Given the description of an element on the screen output the (x, y) to click on. 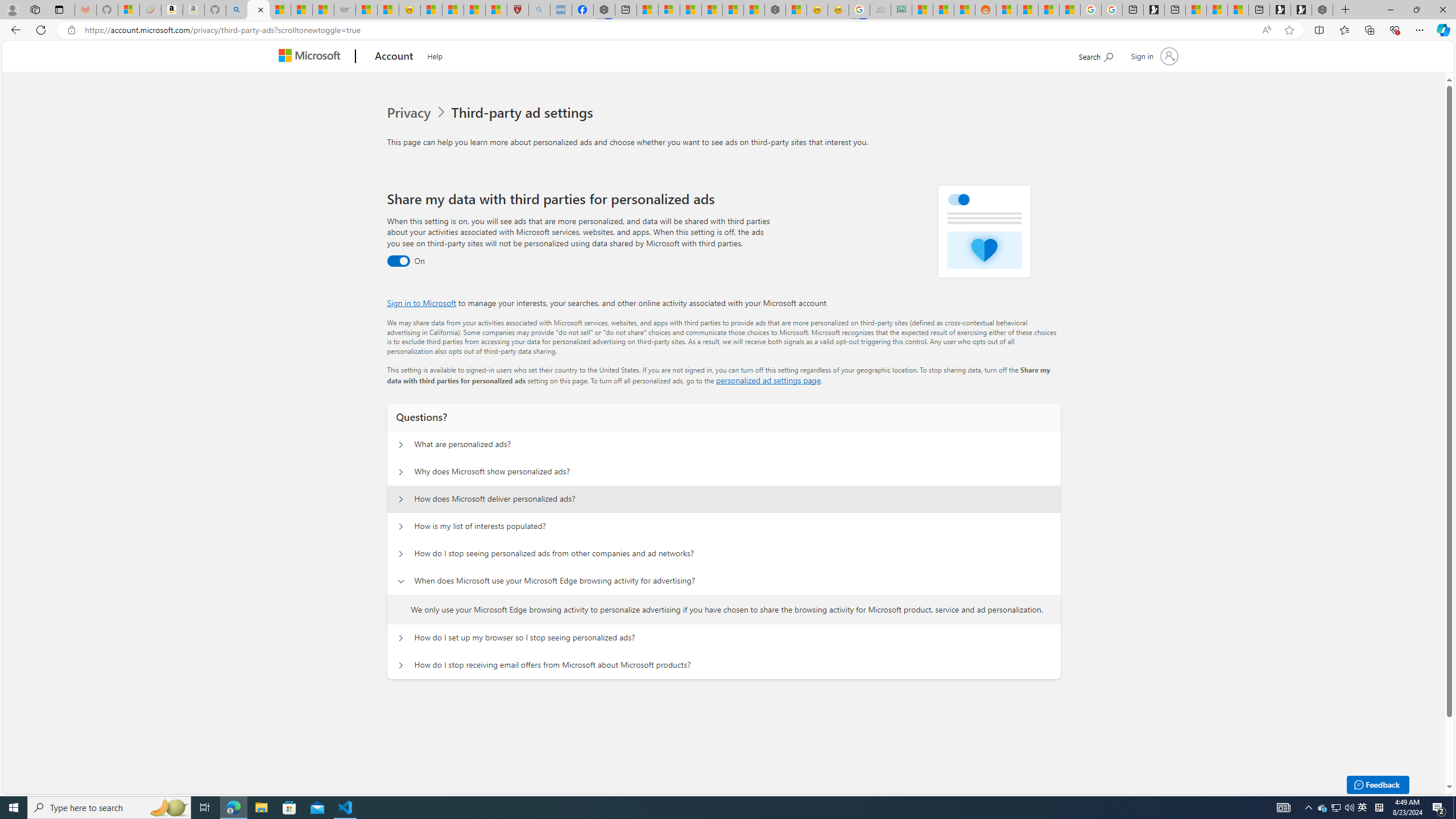
Nordace - #1 Japanese Best-Seller - Siena Smart Backpack (775, 9)
Questions? Why does Microsoft show personalized ads? (401, 472)
personalized ad settings page (767, 379)
